Given the description of an element on the screen output the (x, y) to click on. 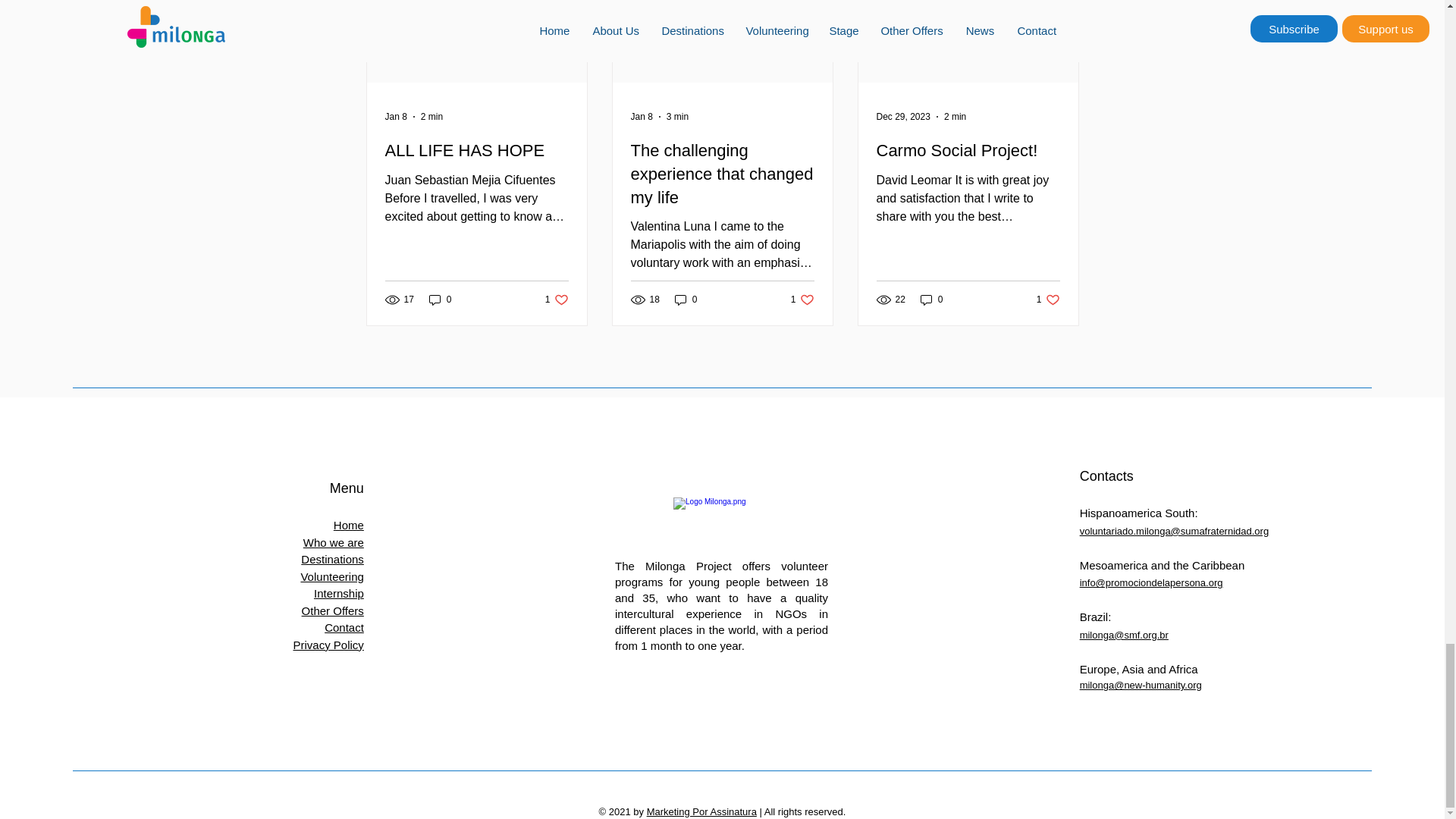
Jan 8 (641, 116)
Destinations (332, 558)
2 min (954, 116)
Who we are (333, 542)
2 min (431, 116)
Marketing Por Assinatura (701, 811)
Internship (339, 593)
Home (556, 298)
0 (348, 524)
